Given the description of an element on the screen output the (x, y) to click on. 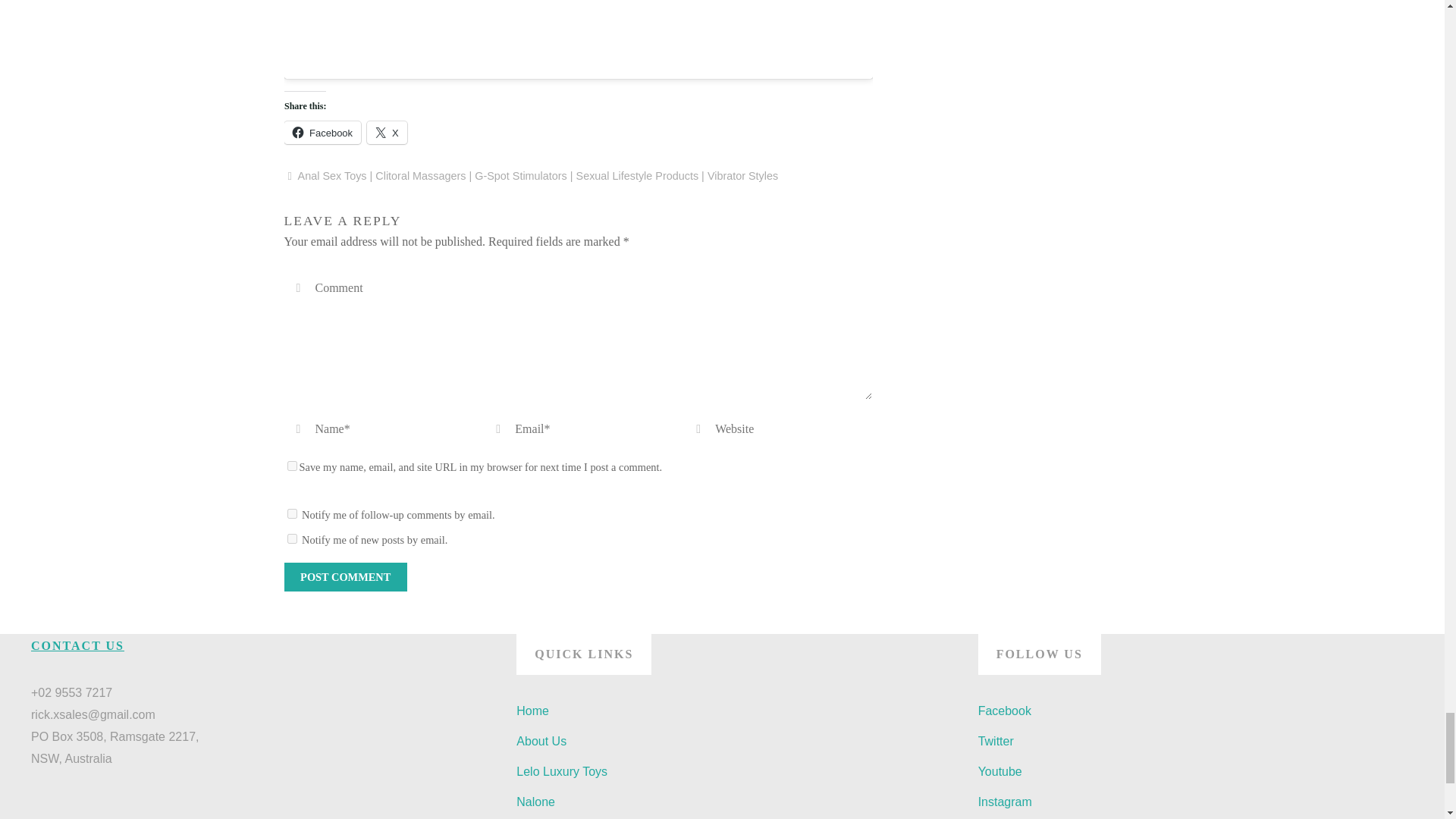
yes (291, 465)
Post Comment (344, 577)
subscribe (291, 513)
subscribe (291, 538)
